Given the description of an element on the screen output the (x, y) to click on. 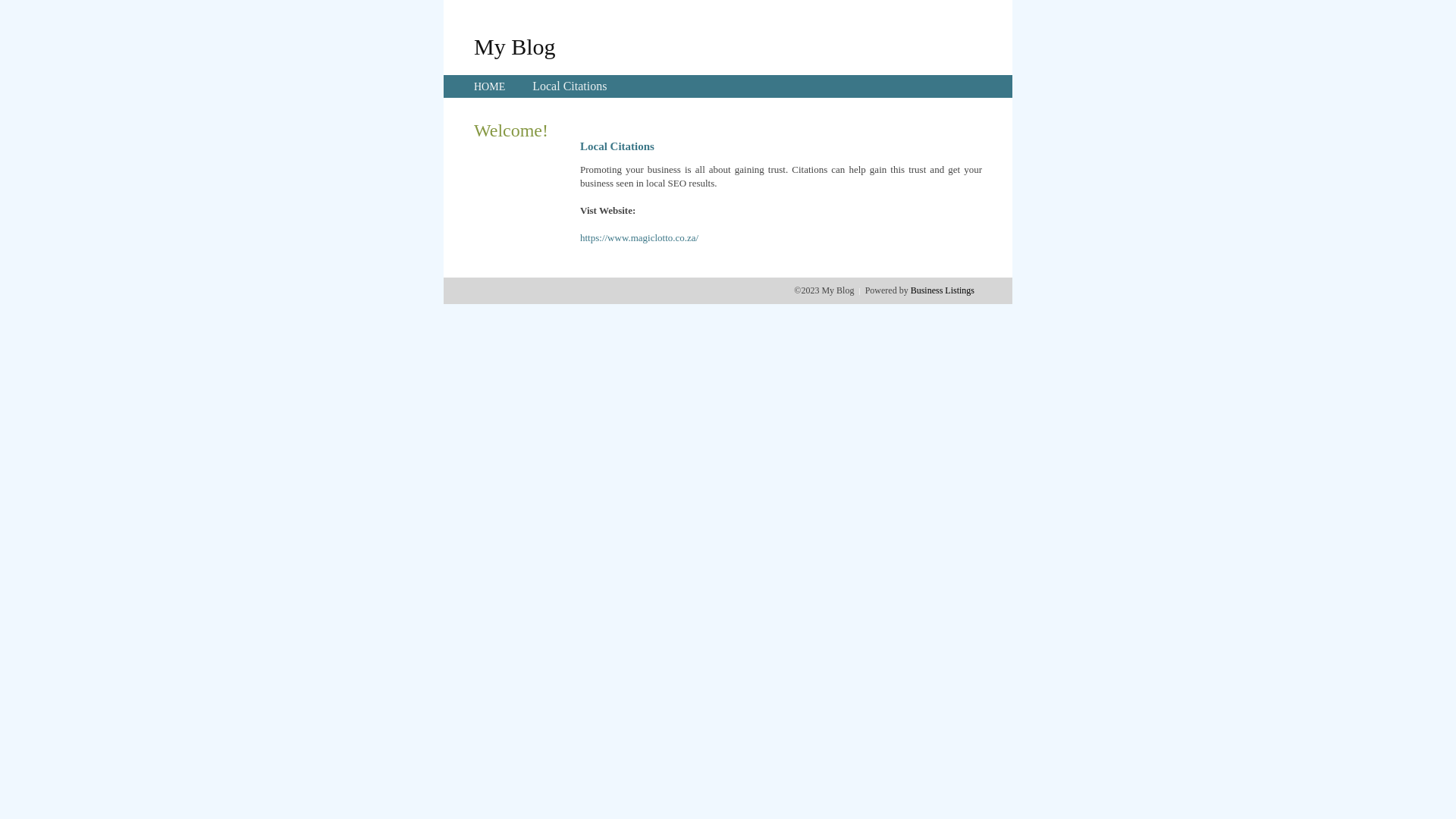
HOME Element type: text (489, 86)
Business Listings Element type: text (942, 290)
https://www.magiclotto.co.za/ Element type: text (639, 237)
My Blog Element type: text (514, 46)
Local Citations Element type: text (569, 85)
